Given the description of an element on the screen output the (x, y) to click on. 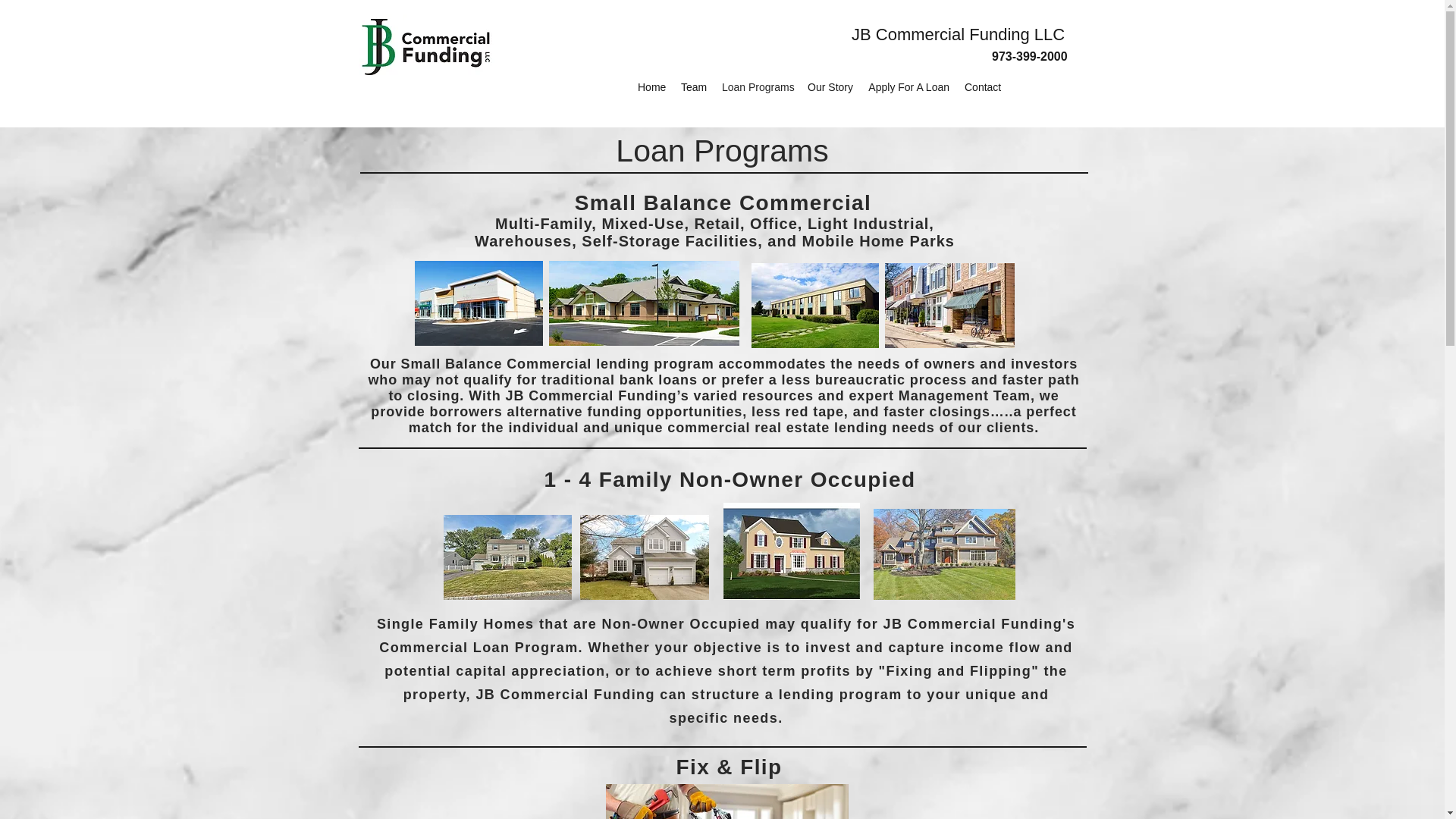
Team (693, 86)
Apply For A Loan (908, 86)
Traditional Stores along a Cobblestone S (948, 305)
Our Story (829, 86)
Contact (981, 86)
photo.jpg.jpg (943, 553)
Loan Programs (756, 86)
New commercial retail small office build (477, 303)
Small office or business building or col (814, 305)
Newly constructed small suburban buildin (643, 303)
Home (651, 86)
Contractor (726, 801)
JB Commercial Funding LLC (957, 34)
photo.jpg.jpg (643, 557)
